Given the description of an element on the screen output the (x, y) to click on. 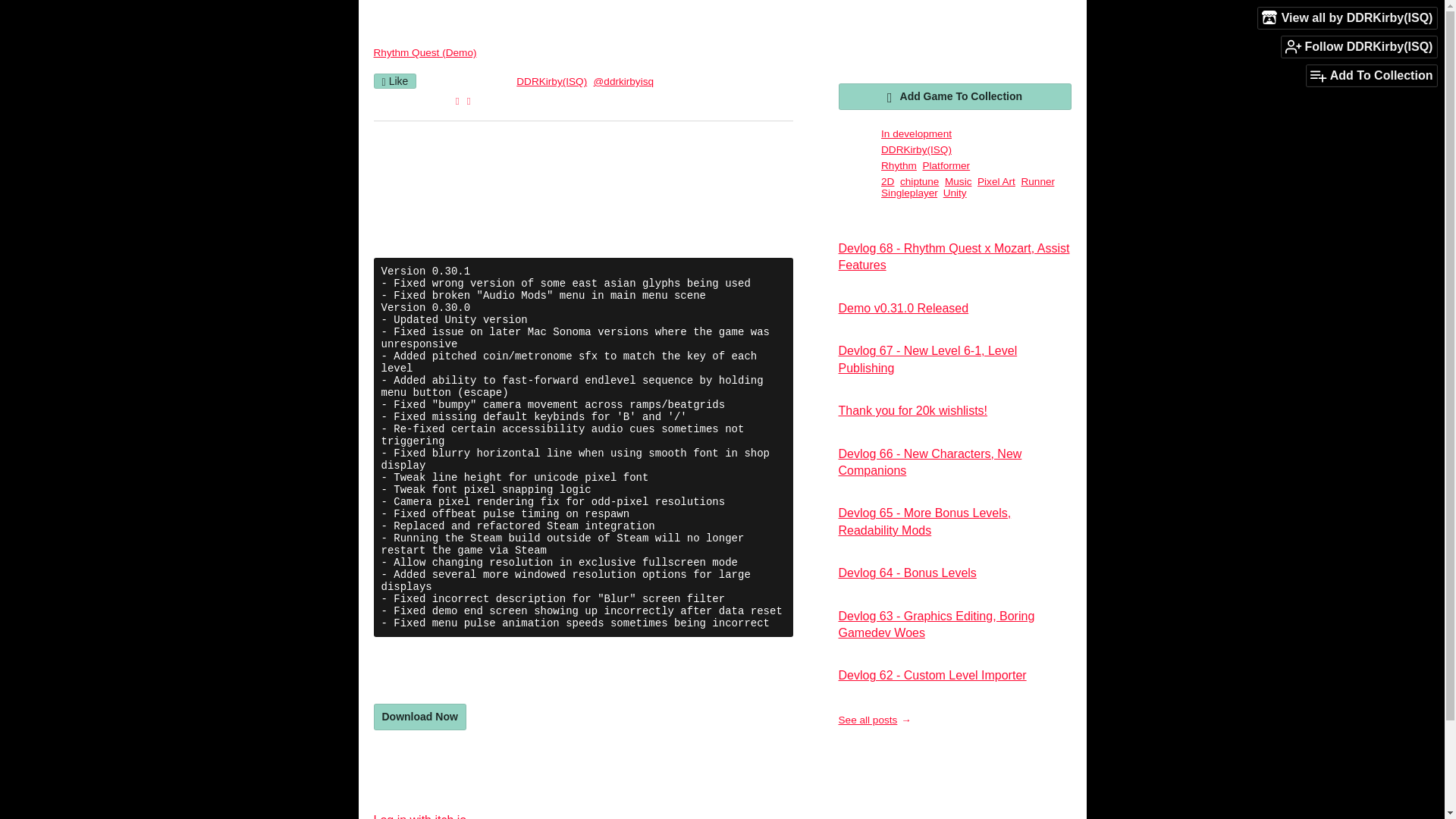
Devlog 62 - Custom Level Importer (932, 675)
2024-02-15 23:20:18 (469, 81)
Like (394, 80)
2D (886, 181)
Demo v0.31.0 Released (903, 308)
Platformer (945, 165)
Devlog 68 - Rhythm Quest x Mozart, Assist Features (954, 256)
See all posts (874, 719)
In development (916, 133)
Pixel Art (995, 181)
Add Game To Collection (954, 96)
Music (958, 181)
Devlog 67 - New Level 6-1, Level Publishing (927, 358)
chiptune (919, 181)
Devlog 65 - More Bonus Levels, Readability Mods (924, 521)
